Given the description of an element on the screen output the (x, y) to click on. 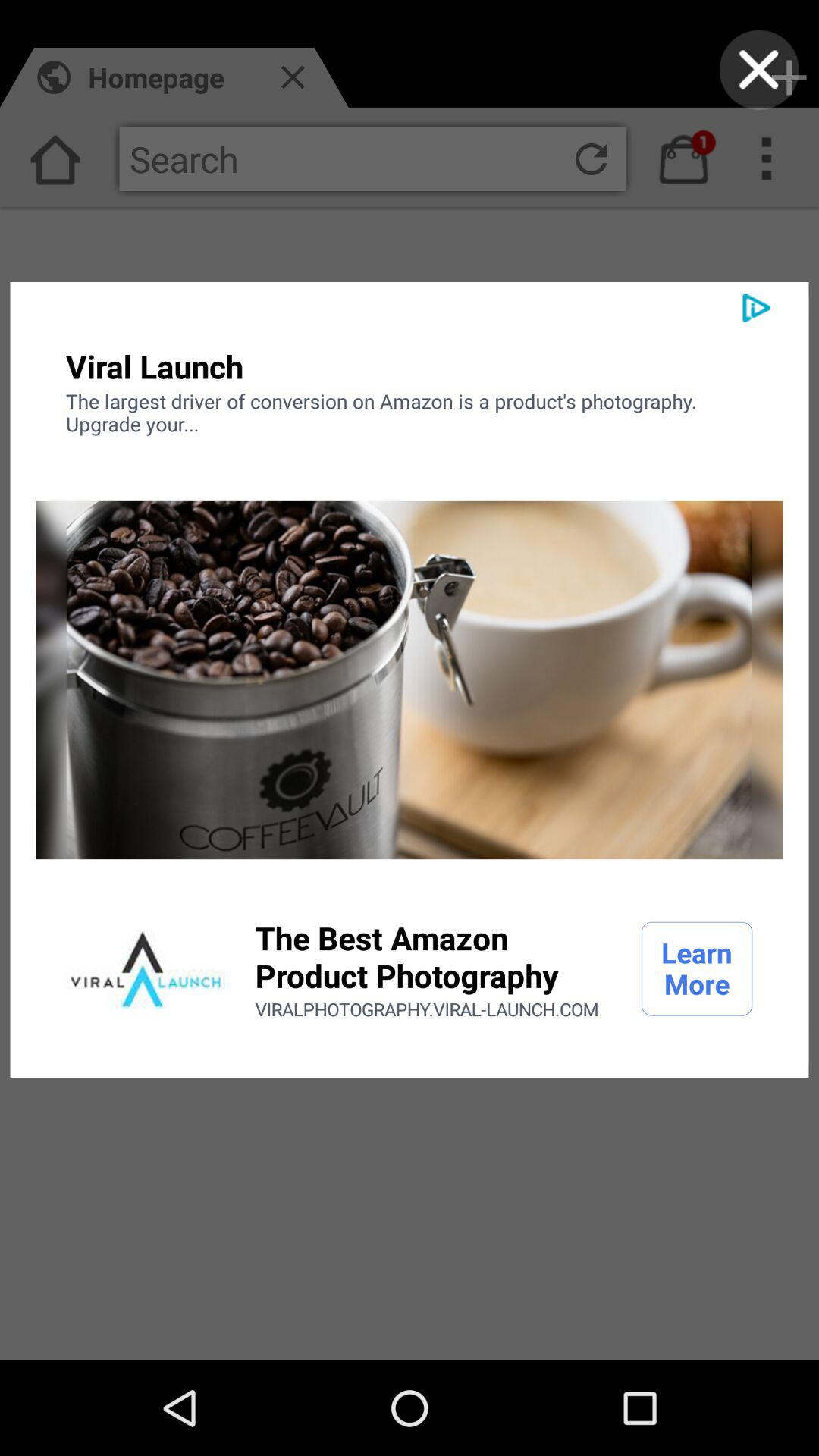
choose the learn more (696, 968)
